Given the description of an element on the screen output the (x, y) to click on. 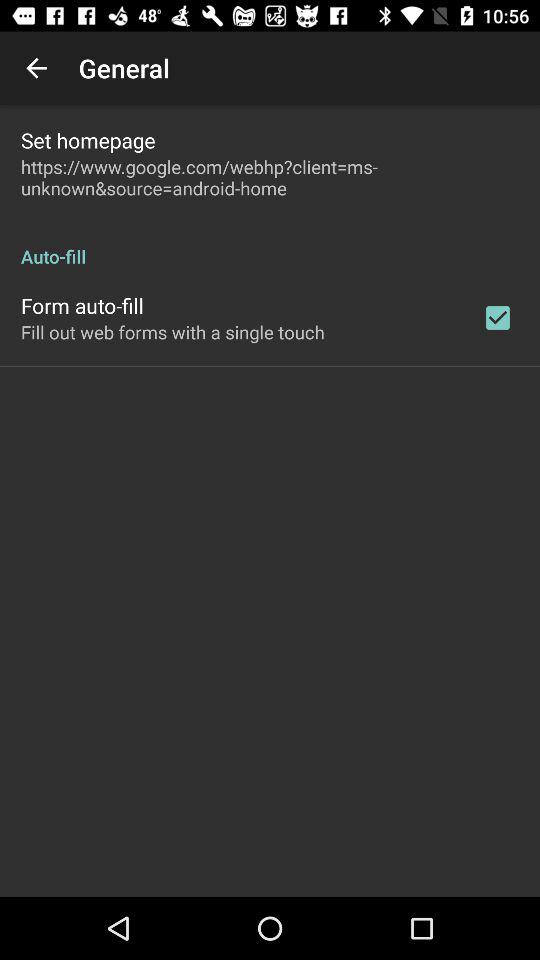
tap item below the set homepage item (270, 177)
